Given the description of an element on the screen output the (x, y) to click on. 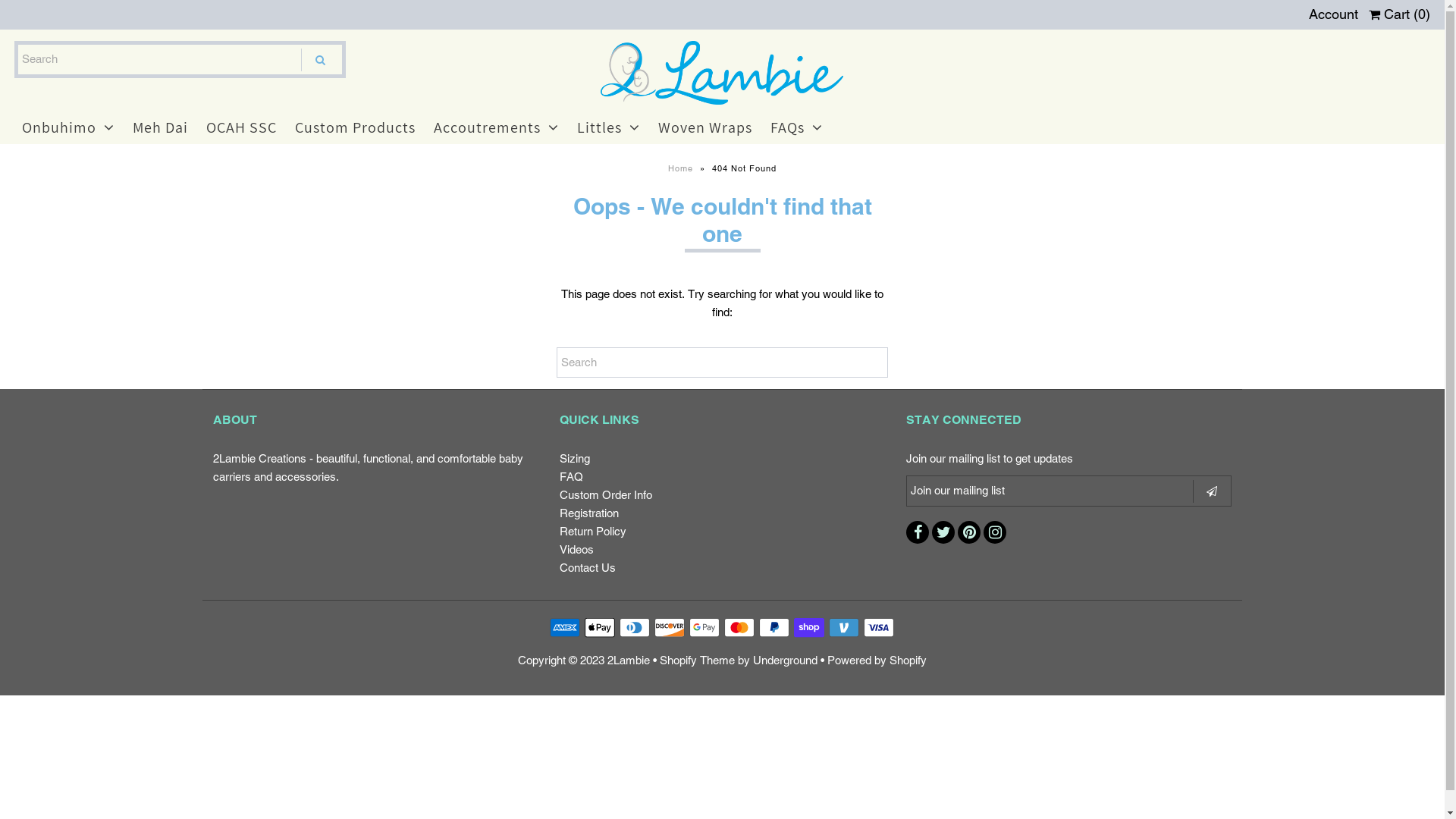
Contact Us Element type: text (587, 567)
FAQs Element type: text (796, 127)
Woven Wraps Element type: text (704, 127)
Registration Element type: text (588, 512)
Home Element type: text (682, 168)
Account Element type: text (1333, 13)
2Lambie Element type: text (628, 659)
Custom Order Info Element type: text (605, 494)
Return Policy Element type: text (592, 530)
Cart (0) Element type: text (1399, 13)
Onbuhimo Element type: text (68, 127)
Powered by Shopify Element type: text (876, 659)
Meh Dai Element type: text (160, 127)
OCAH SSC Element type: text (241, 127)
Videos Element type: text (576, 548)
Accoutrements Element type: text (496, 127)
Littles Element type: text (608, 127)
Sizing Element type: text (574, 457)
Shopify Theme Element type: text (696, 659)
Custom Products Element type: text (355, 127)
FAQ Element type: text (571, 476)
